Given the description of an element on the screen output the (x, y) to click on. 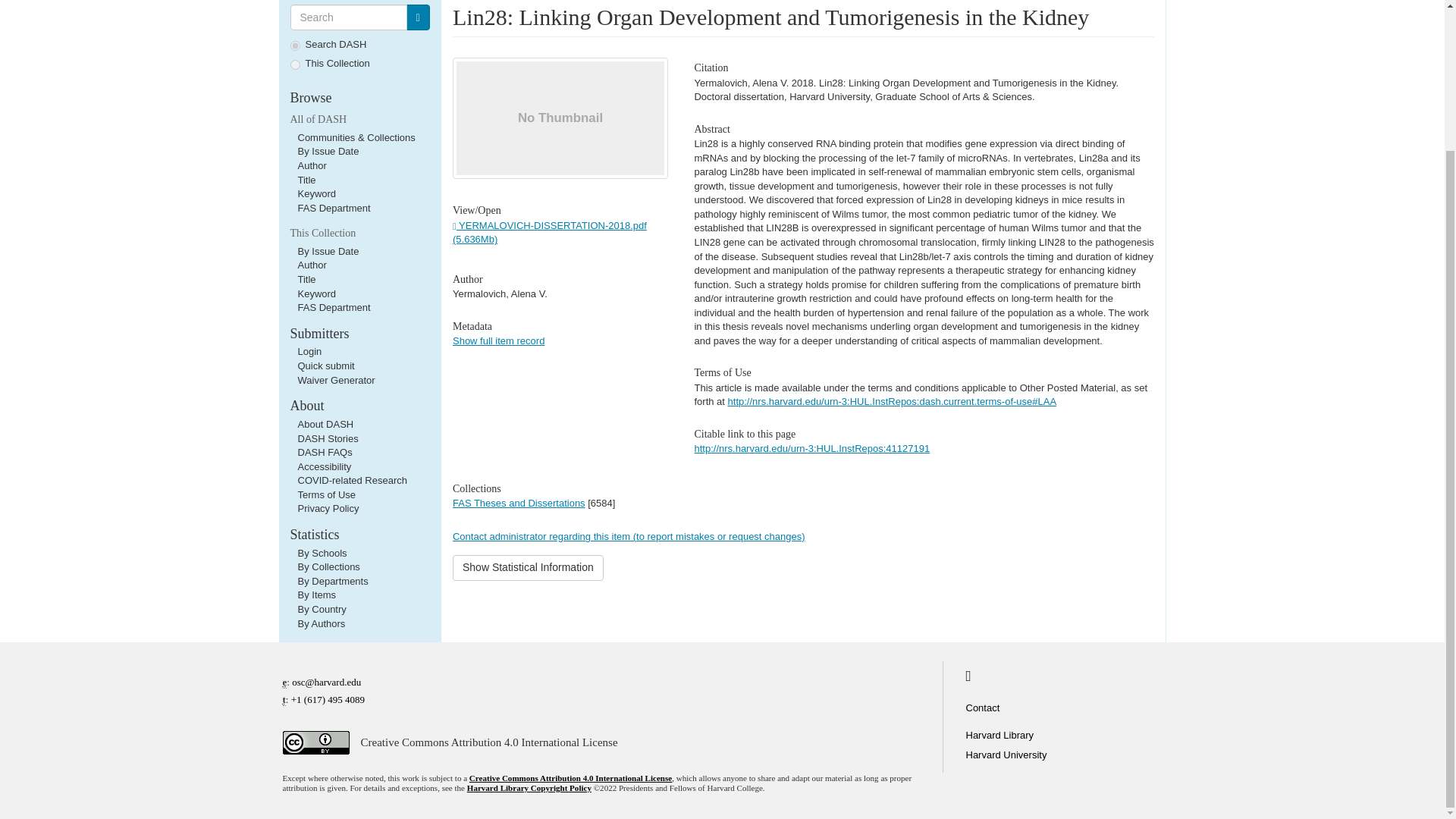
Keyword (316, 193)
Quick submit (325, 365)
FAS Department (333, 307)
FAS Department (333, 207)
Title (306, 179)
By Issue Date (327, 251)
Go (417, 17)
By Issue Date (327, 151)
Author (311, 265)
Author (311, 165)
Title (306, 279)
Keyword (316, 293)
Login (309, 351)
